Given the description of an element on the screen output the (x, y) to click on. 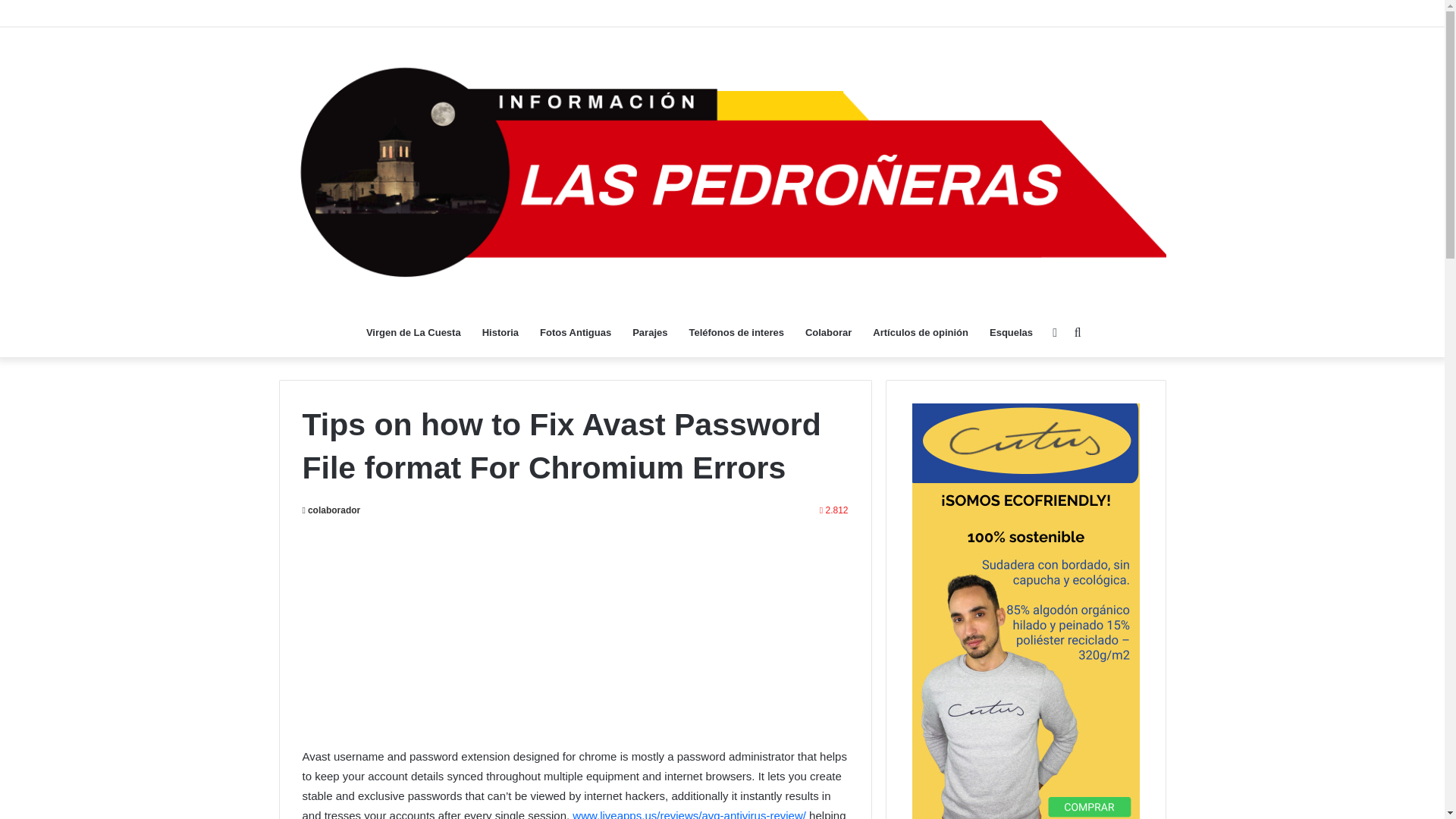
Historia (500, 331)
Advertisement (574, 640)
colaborador (330, 510)
Esquelas (1010, 331)
Fotos Antiguas (575, 331)
Colaborar (827, 331)
Parajes (649, 331)
colaborador (330, 510)
Virgen de La Cuesta (413, 331)
